Given the description of an element on the screen output the (x, y) to click on. 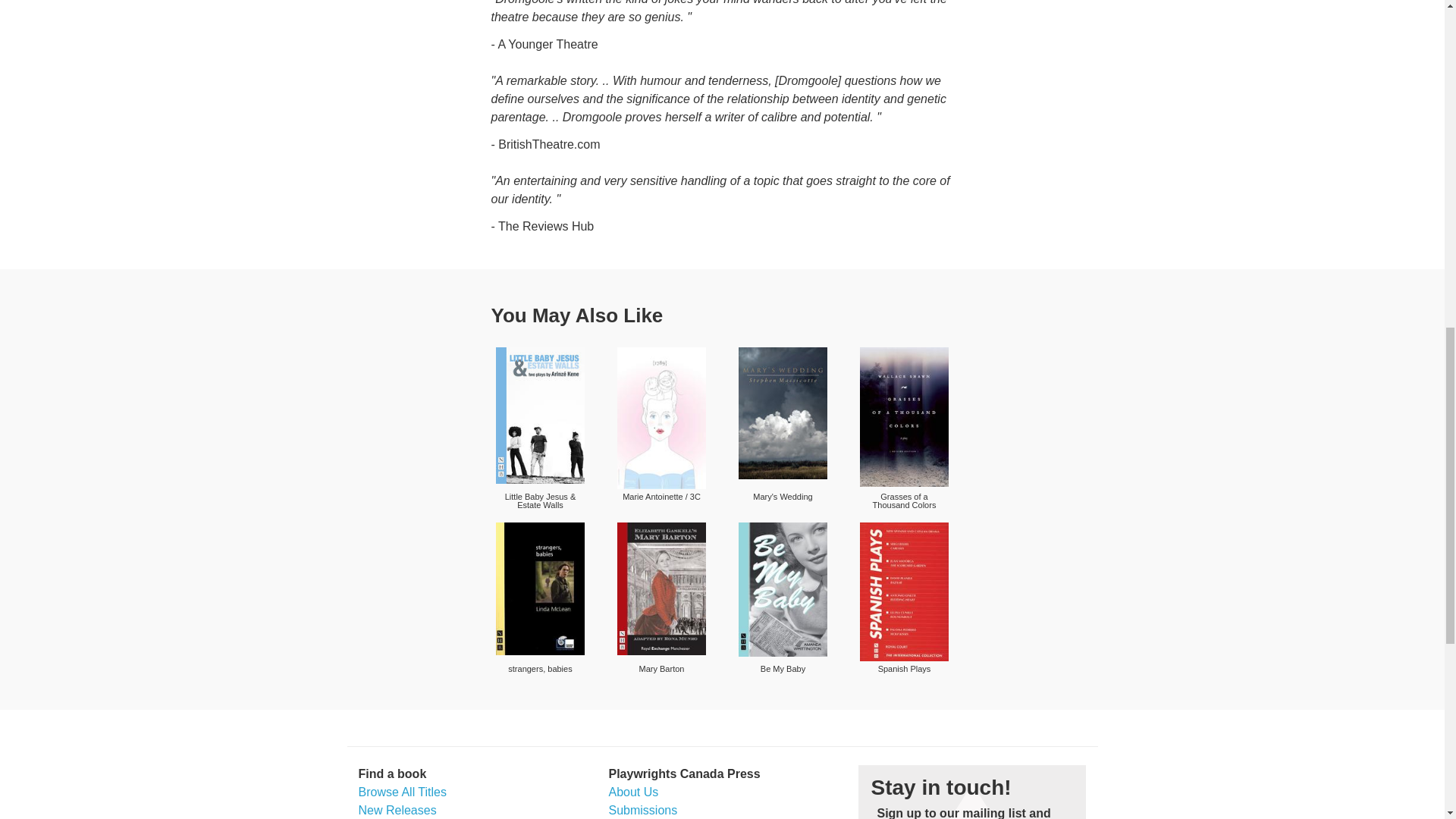
Grasses of a Thousand Colors (904, 416)
Mary Barton (661, 588)
Spanish Plays (904, 591)
Mary's Wedding (782, 413)
strangers, babies (540, 588)
Be My Baby (782, 589)
